Given the description of an element on the screen output the (x, y) to click on. 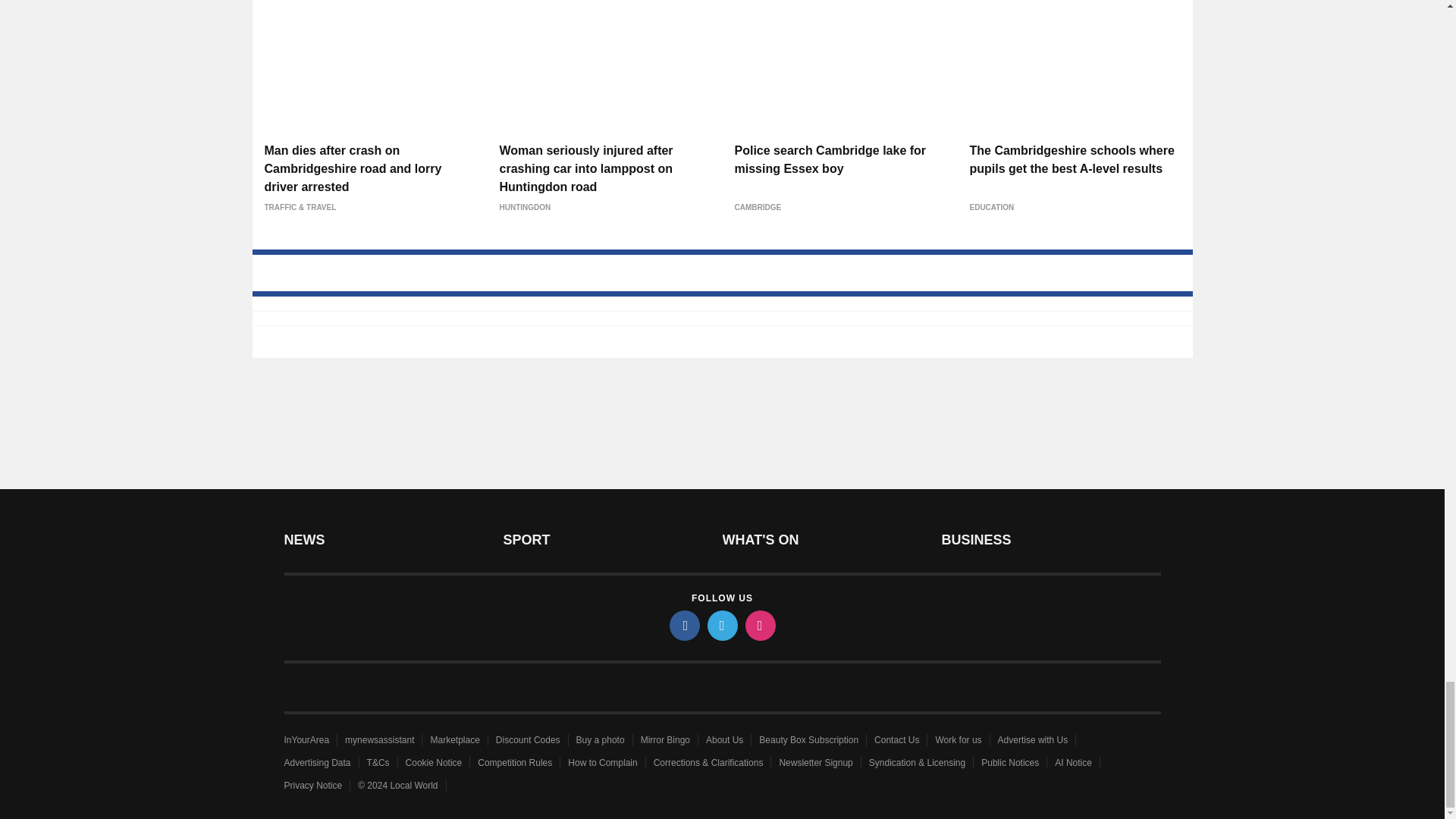
instagram (759, 625)
twitter (721, 625)
facebook (683, 625)
